Given the description of an element on the screen output the (x, y) to click on. 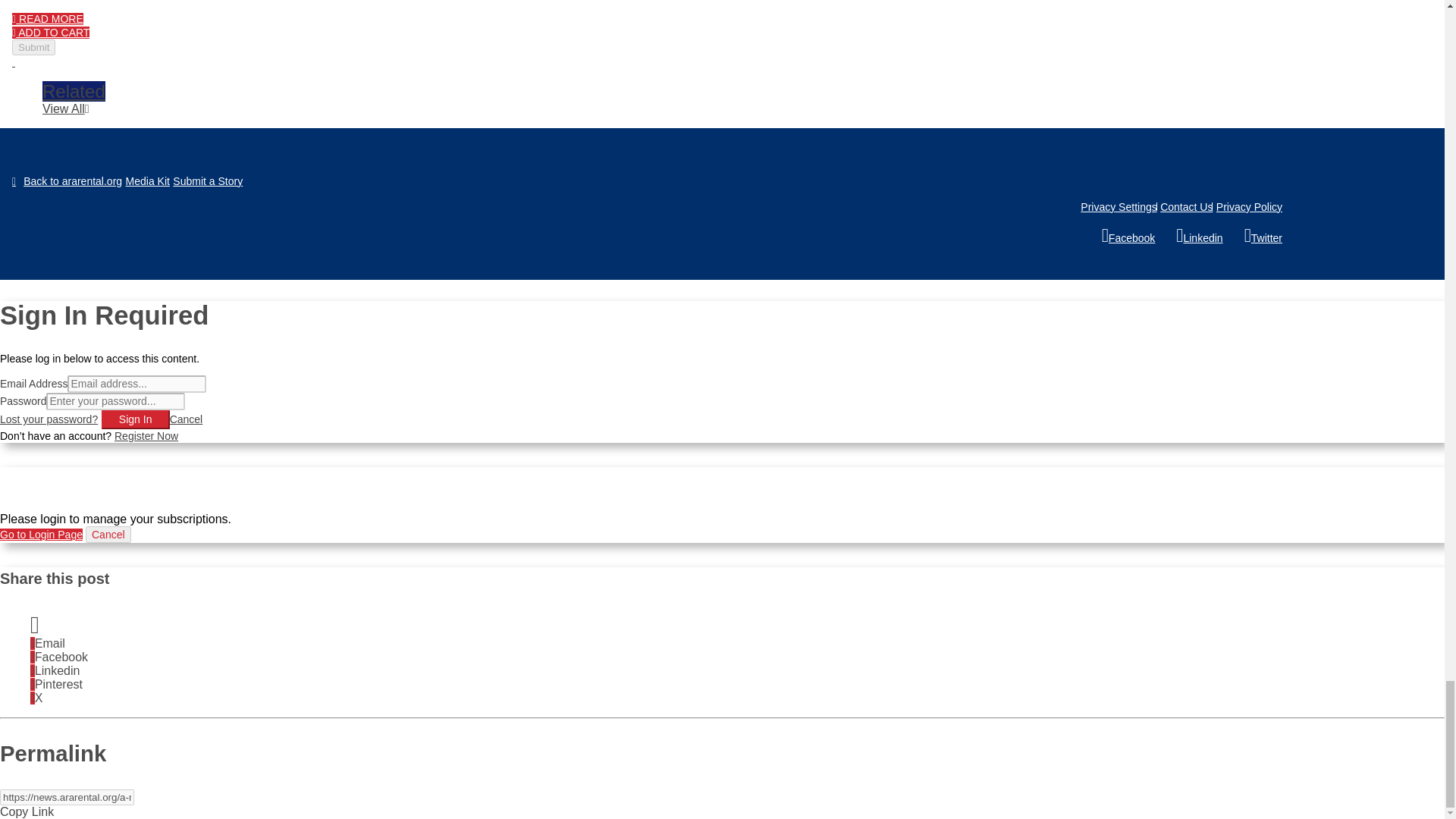
Submit (33, 47)
